Given the description of an element on the screen output the (x, y) to click on. 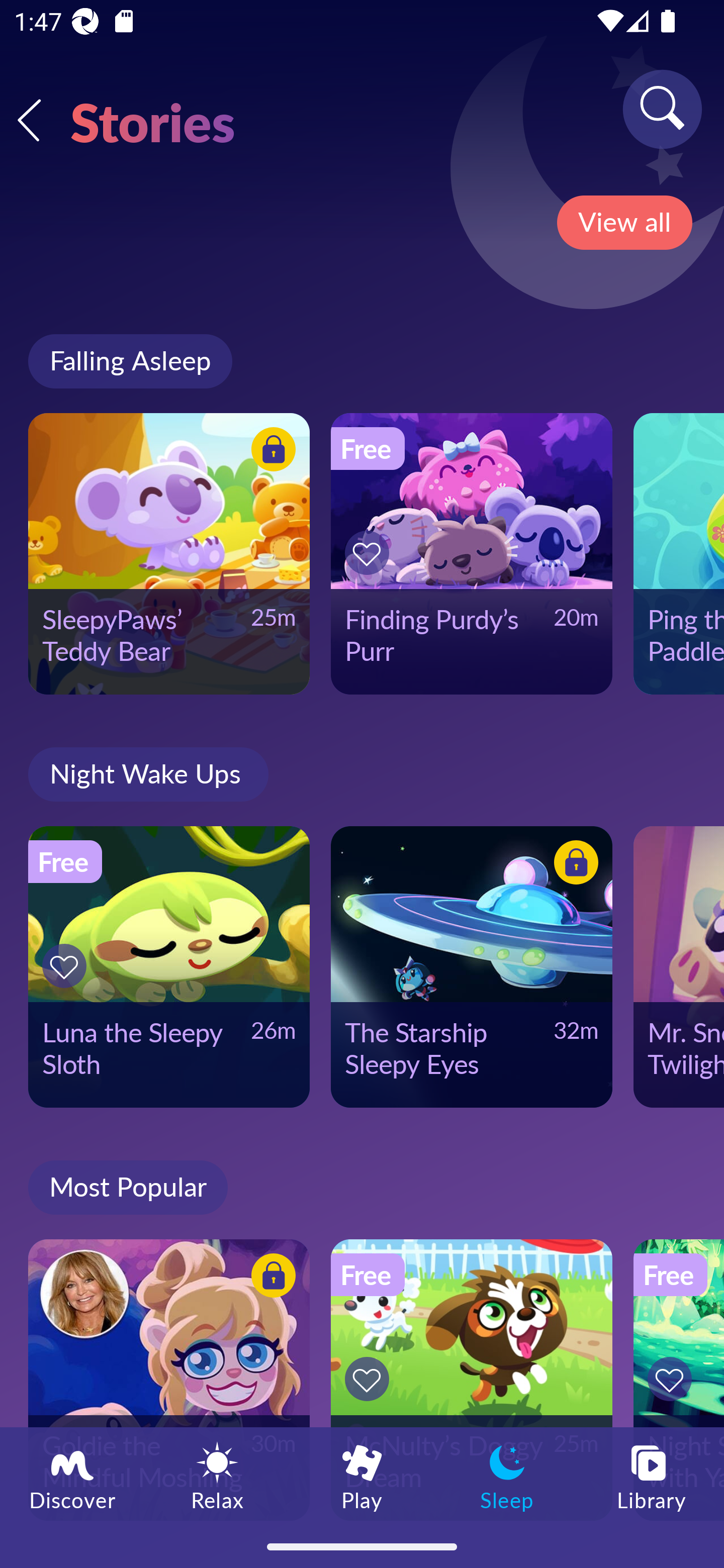
View all (624, 222)
Button (269, 451)
Button (369, 552)
Button (573, 865)
Button (67, 965)
Button (269, 1277)
Button (369, 1378)
Button (672, 1378)
Discover (72, 1475)
Relax (216, 1475)
Play (361, 1475)
Library (651, 1475)
